Given the description of an element on the screen output the (x, y) to click on. 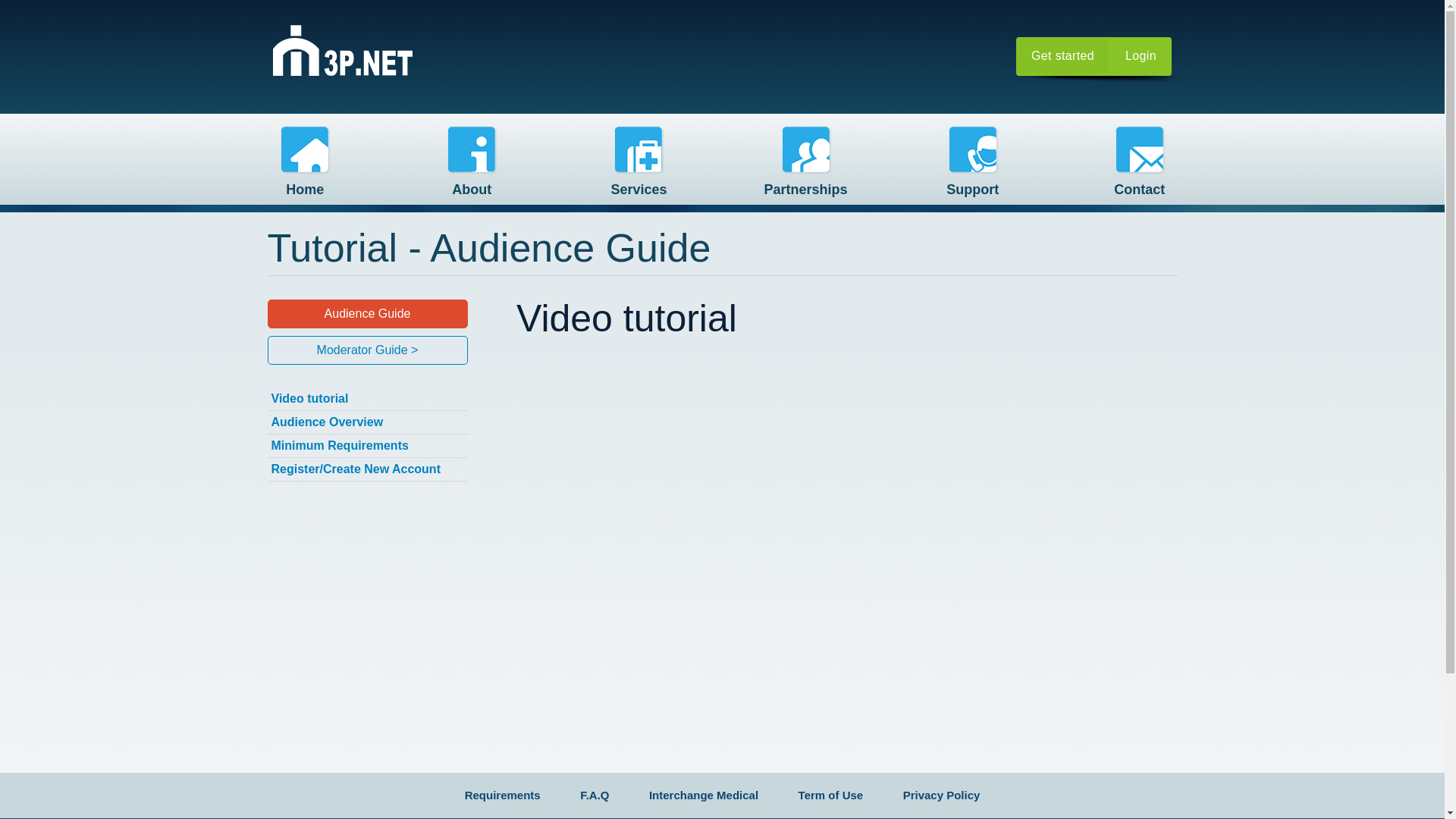
Login Element type: text (1140, 55)
Home Element type: text (304, 166)
Term of Use Element type: text (830, 794)
Moderator Guide > Element type: text (366, 349)
Get started Element type: text (1062, 55)
Services Element type: text (638, 166)
Privacy Policy Element type: text (941, 794)
Contact Element type: text (1139, 166)
Support Element type: text (972, 166)
Interchange Medical Element type: text (703, 794)
Home Element type: hover (342, 44)
Requirements Element type: text (502, 794)
Register/Create New Account Element type: text (366, 469)
Video tutorial Element type: text (366, 399)
Audience Guide Element type: text (366, 313)
Partnerships Element type: text (805, 166)
F.A.Q Element type: text (594, 794)
Minimum Requirements Element type: text (366, 446)
Audience Overview Element type: text (366, 422)
About Element type: text (471, 166)
